Given the description of an element on the screen output the (x, y) to click on. 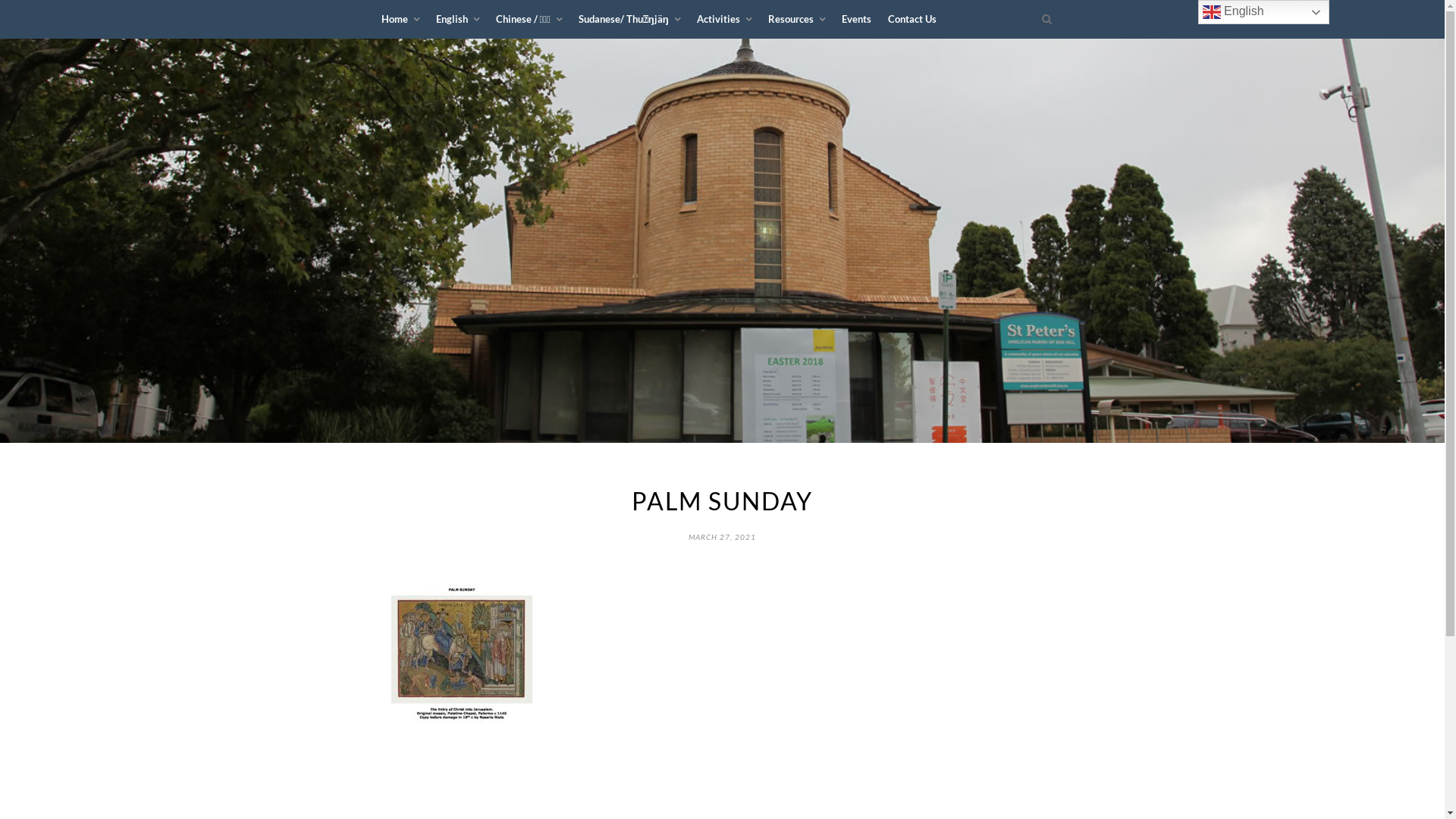
English Element type: text (456, 19)
Activities Element type: text (723, 19)
English Element type: text (1263, 12)
Events Element type: text (856, 18)
MARCH 27, 2021 Element type: text (722, 535)
Contact Us Element type: text (912, 18)
Home Element type: text (399, 19)
Resources Element type: text (796, 19)
